Given the description of an element on the screen output the (x, y) to click on. 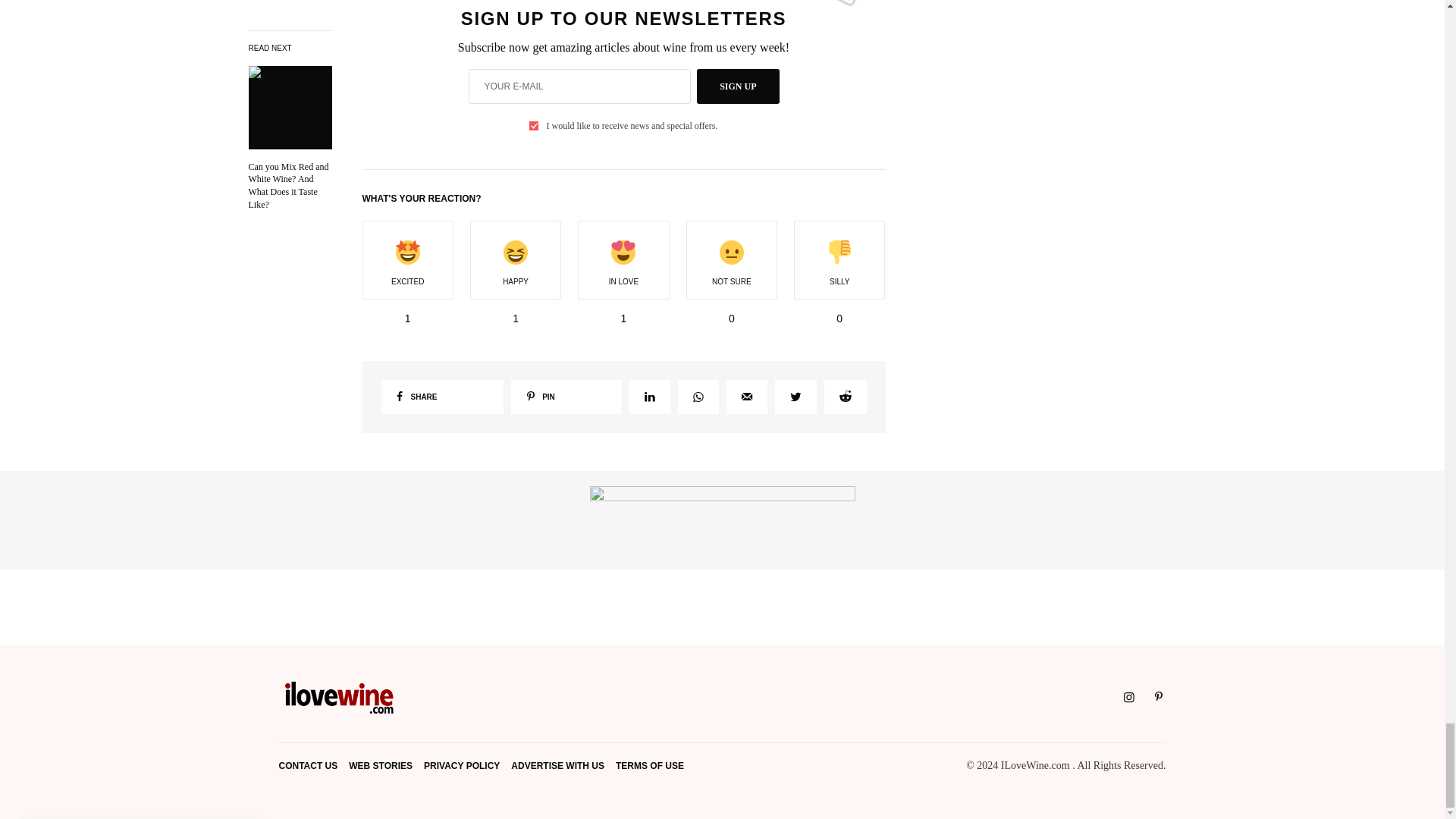
I Love Wine (339, 697)
